Given the description of an element on the screen output the (x, y) to click on. 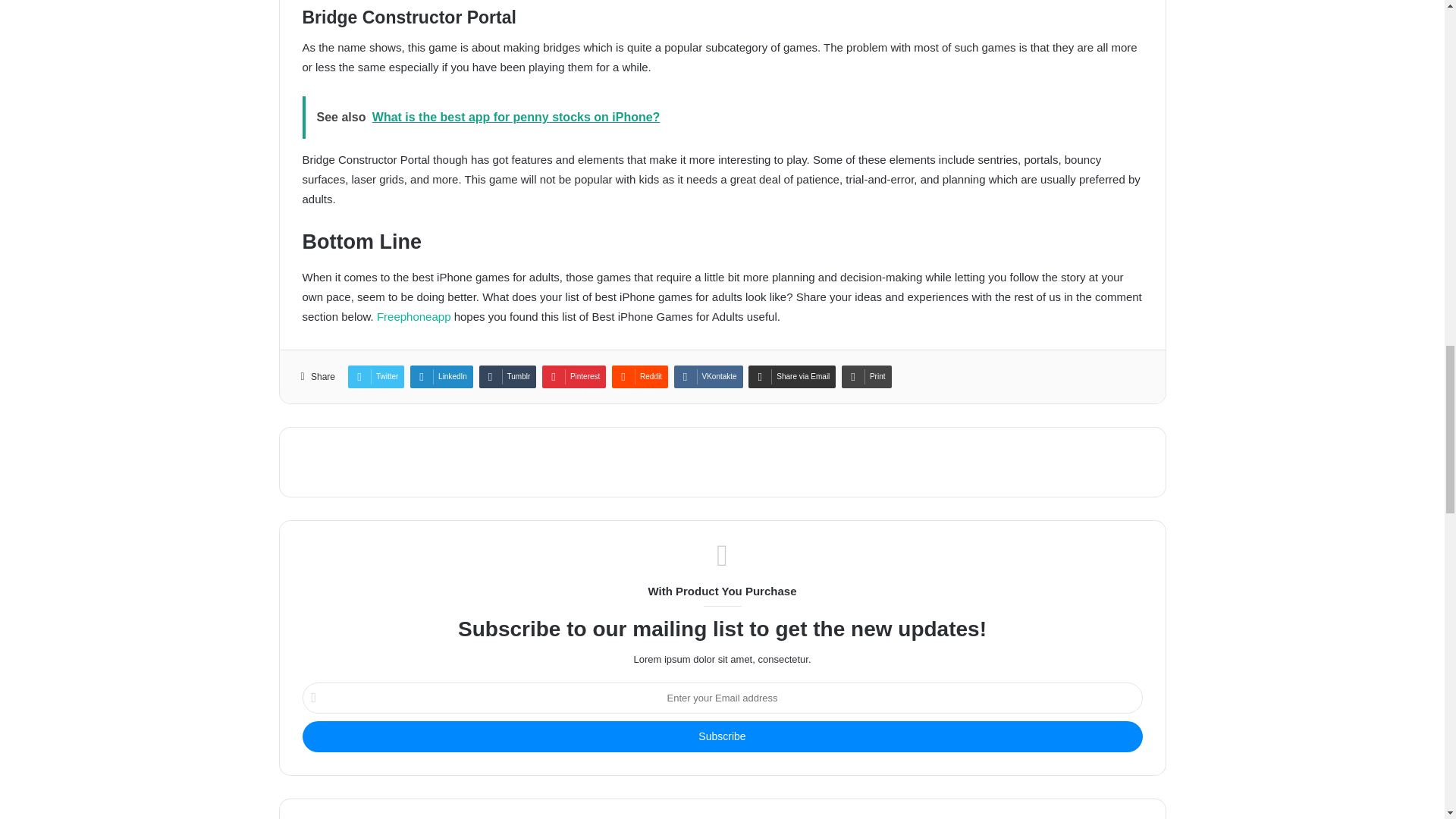
Twitter (375, 376)
Subscribe (721, 736)
See also  What is the best app for penny stocks on iPhone? (721, 117)
Freephoneapp (414, 316)
Twitter (375, 376)
LinkedIn (441, 376)
